Given the description of an element on the screen output the (x, y) to click on. 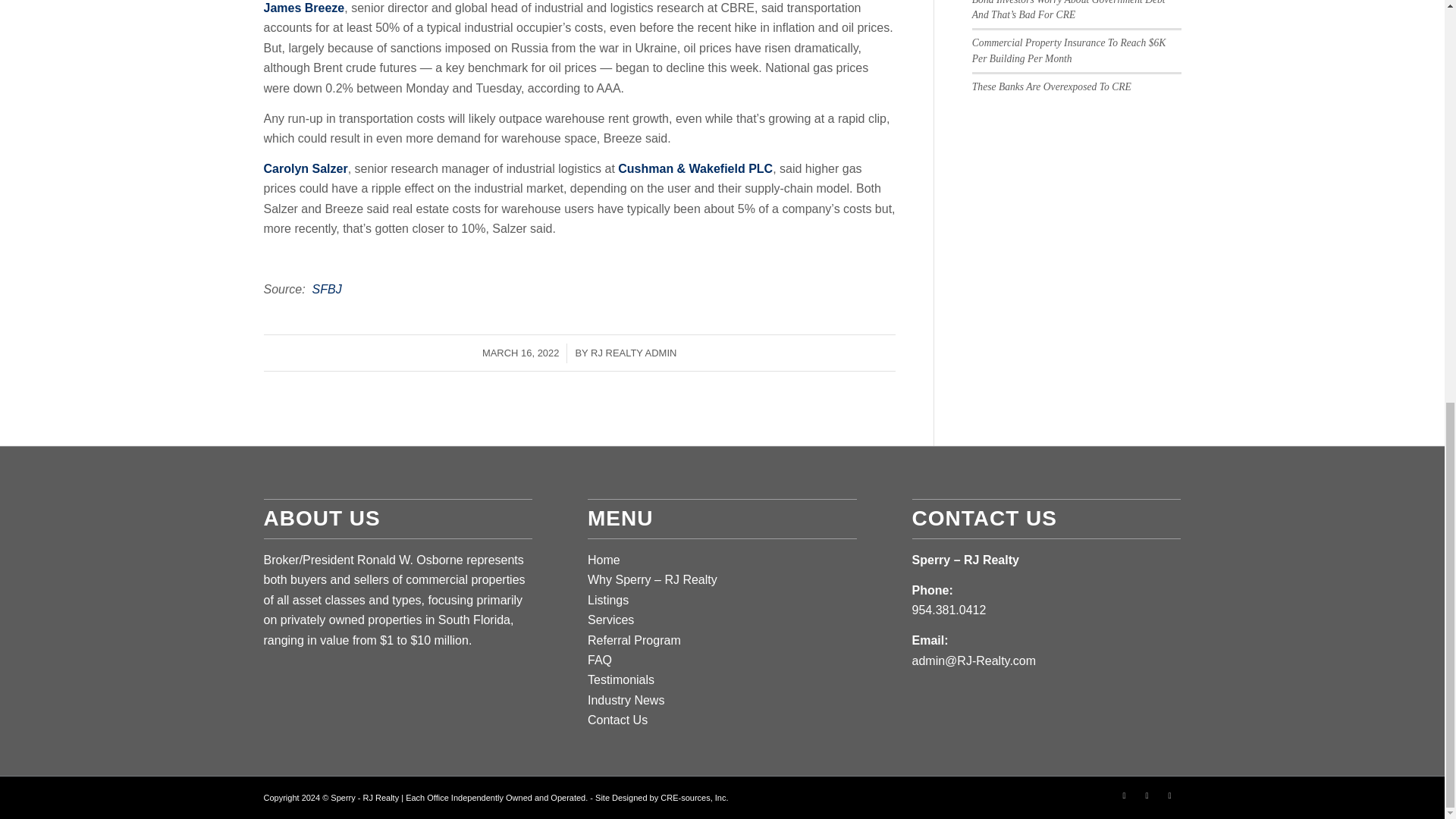
SFBJ (327, 288)
RJ REALTY ADMIN (634, 352)
LinkedIn (1146, 794)
Facebook (1124, 794)
Posts by RJ Realty Admin (634, 352)
Mail (1169, 794)
